Given the description of an element on the screen output the (x, y) to click on. 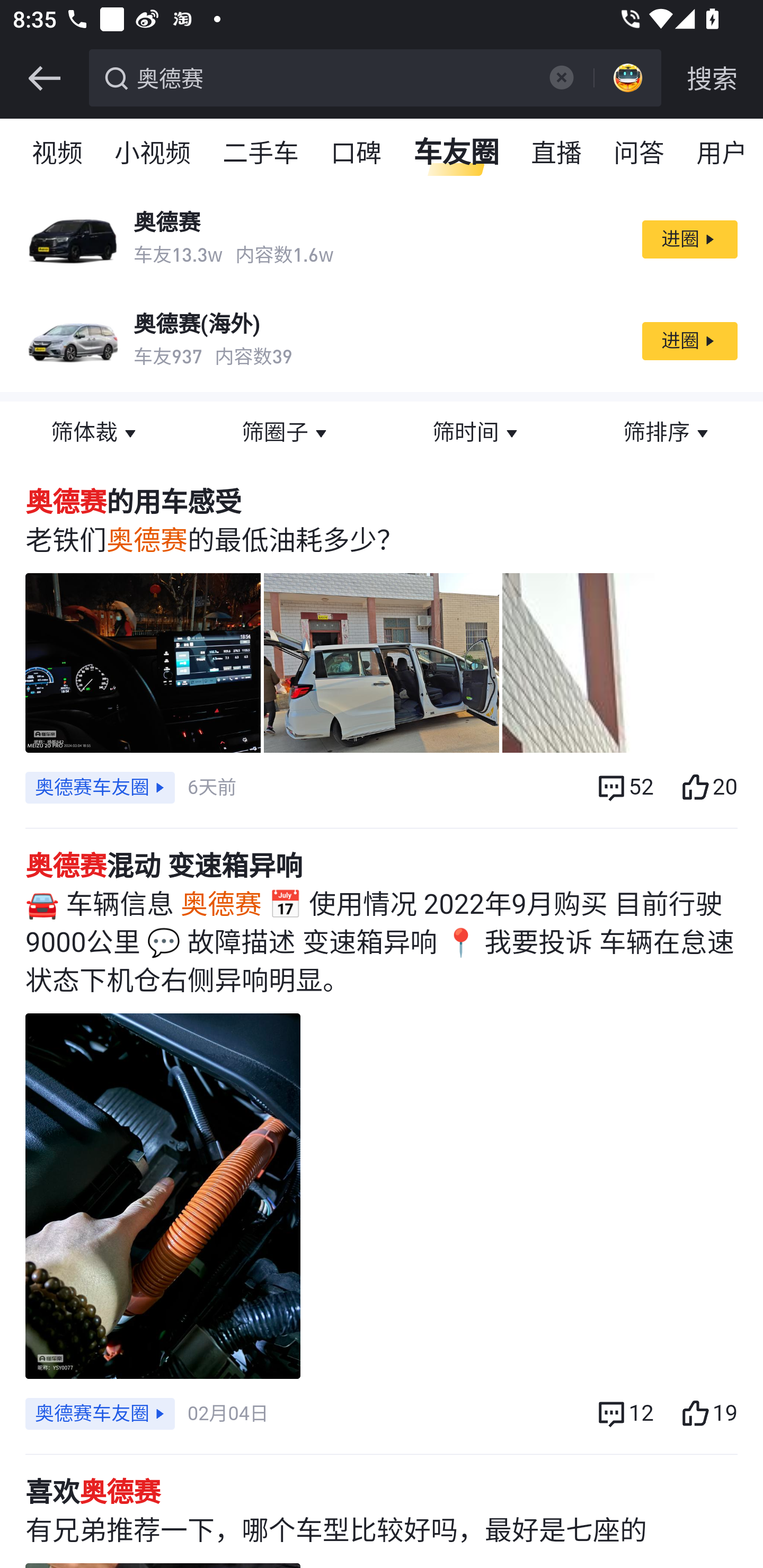
奥德赛 (331, 76)
 (560, 77)
 (44, 78)
搜索 (711, 78)
视频 (57, 153)
小视频 (153, 153)
二手车 (261, 153)
口碑 (356, 153)
车友圈 (456, 153)
直播 (556, 153)
问答 (639, 153)
用户 (721, 153)
奥德赛 车友13.3w内容数1.6w 进圈 (381, 239)
进圈 (688, 239)
奥德赛(海外) 车友937内容数39 进圈 (381, 341)
进圈 (688, 340)
筛体裁 (95, 433)
筛圈子 (285, 433)
筛时间 (476, 433)
筛排序 (667, 433)
奥德赛车友圈 6天前 (130, 786)
52 (624, 786)
20 (708, 786)
奥德赛车友圈 02月04日 (146, 1414)
12 (624, 1414)
19 (708, 1414)
